Given the description of an element on the screen output the (x, y) to click on. 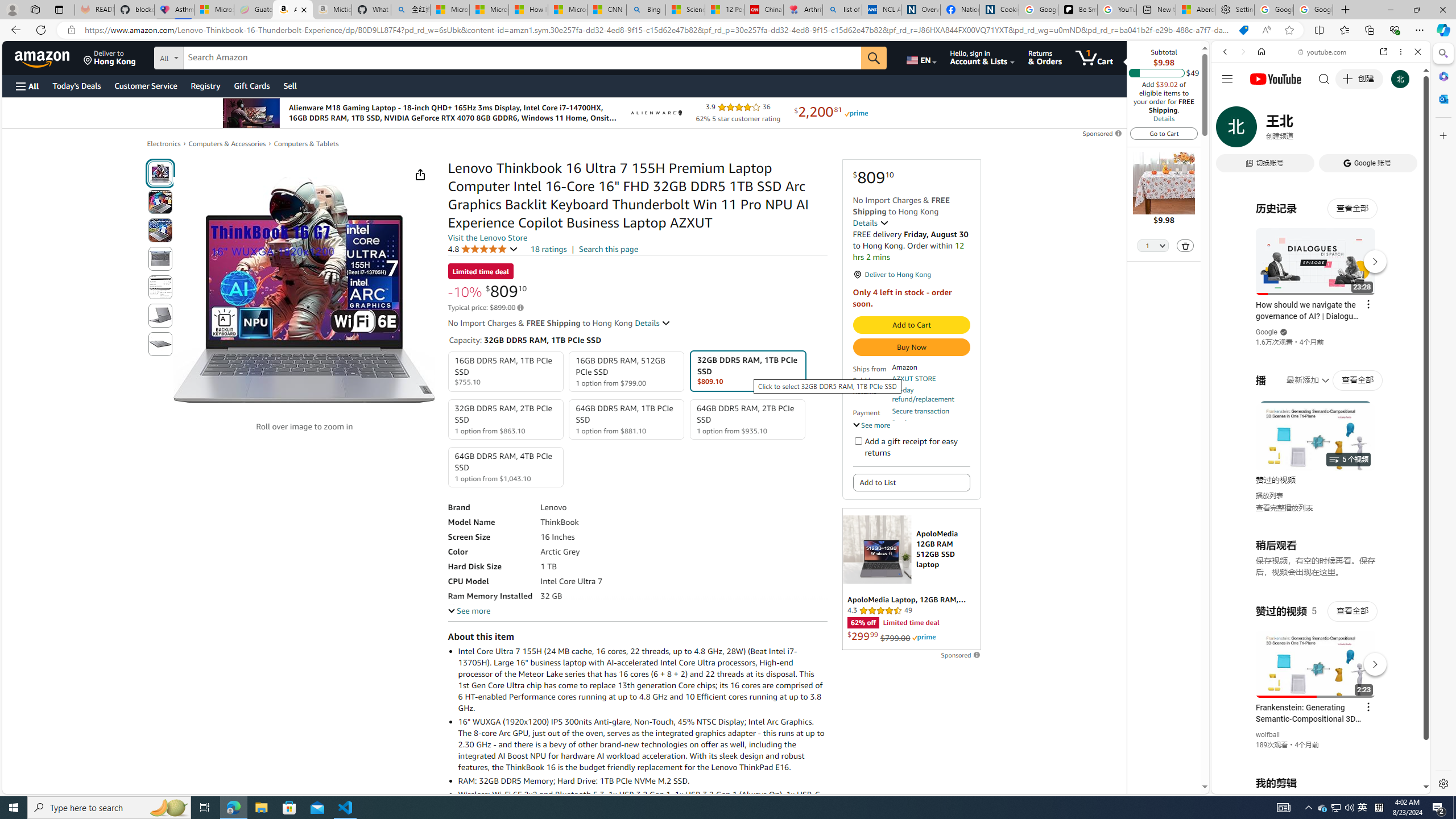
Sell (290, 85)
Logo (655, 112)
12 Popular Science Lies that Must be Corrected (724, 9)
US[ju] (1249, 785)
Returns & Orders (1045, 57)
Cookies (999, 9)
Aberdeen, Hong Kong SAR hourly forecast | Microsoft Weather (1195, 9)
